Given the description of an element on the screen output the (x, y) to click on. 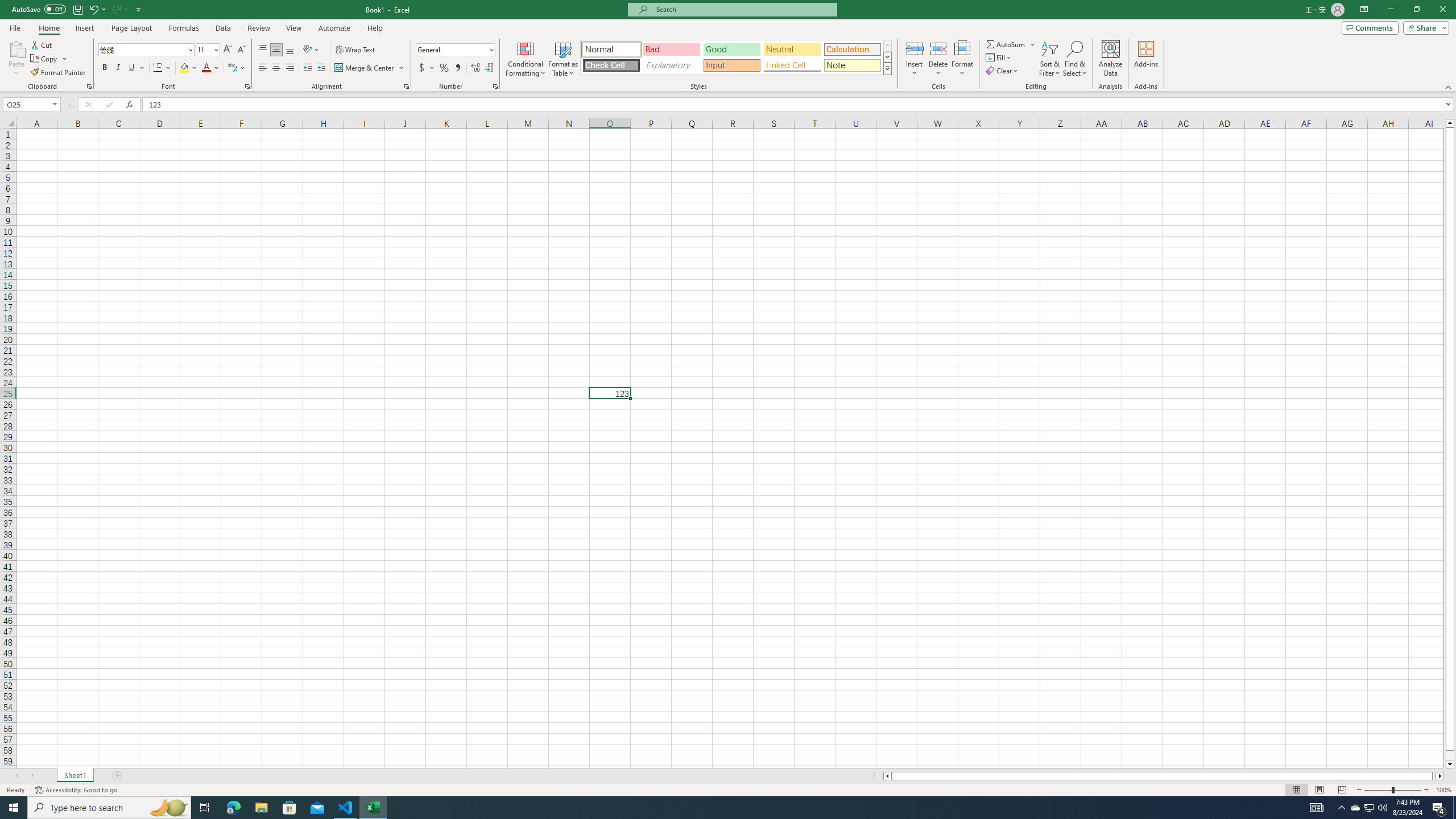
Bad (671, 49)
Decrease Indent (307, 67)
Cut (42, 44)
Show Phonetic Field (231, 67)
Show Phonetic Field (236, 67)
Format as Table (563, 58)
Zoom In (1426, 790)
Neutral (791, 49)
Font Color RGB(255, 0, 0) (206, 67)
Class: NetUIScrollBar (1163, 775)
Format Painter (58, 72)
Check Cell (611, 65)
Paste (16, 48)
